Given the description of an element on the screen output the (x, y) to click on. 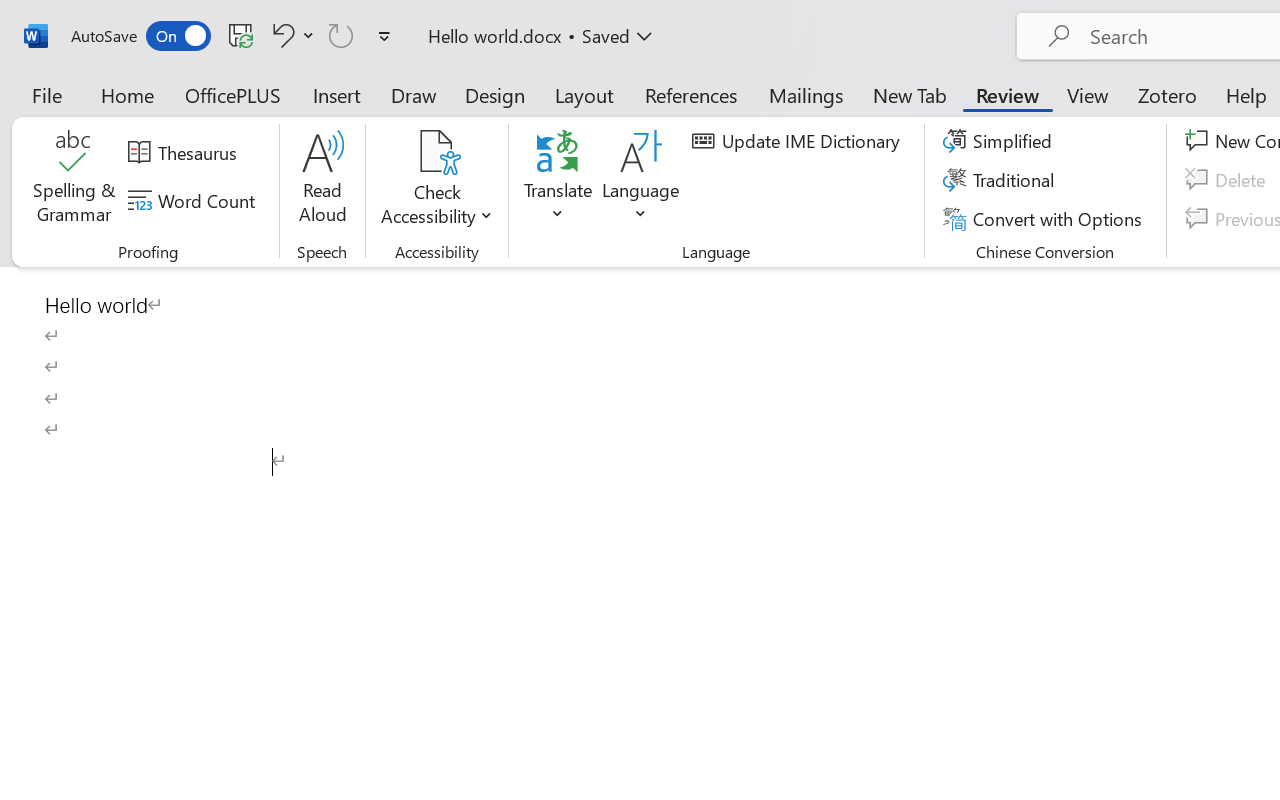
OfficePLUS (233, 94)
Quick Access Toolbar (233, 36)
New Tab (909, 94)
Delete (1227, 179)
Review (1007, 94)
Can't Repeat (341, 35)
